Given the description of an element on the screen output the (x, y) to click on. 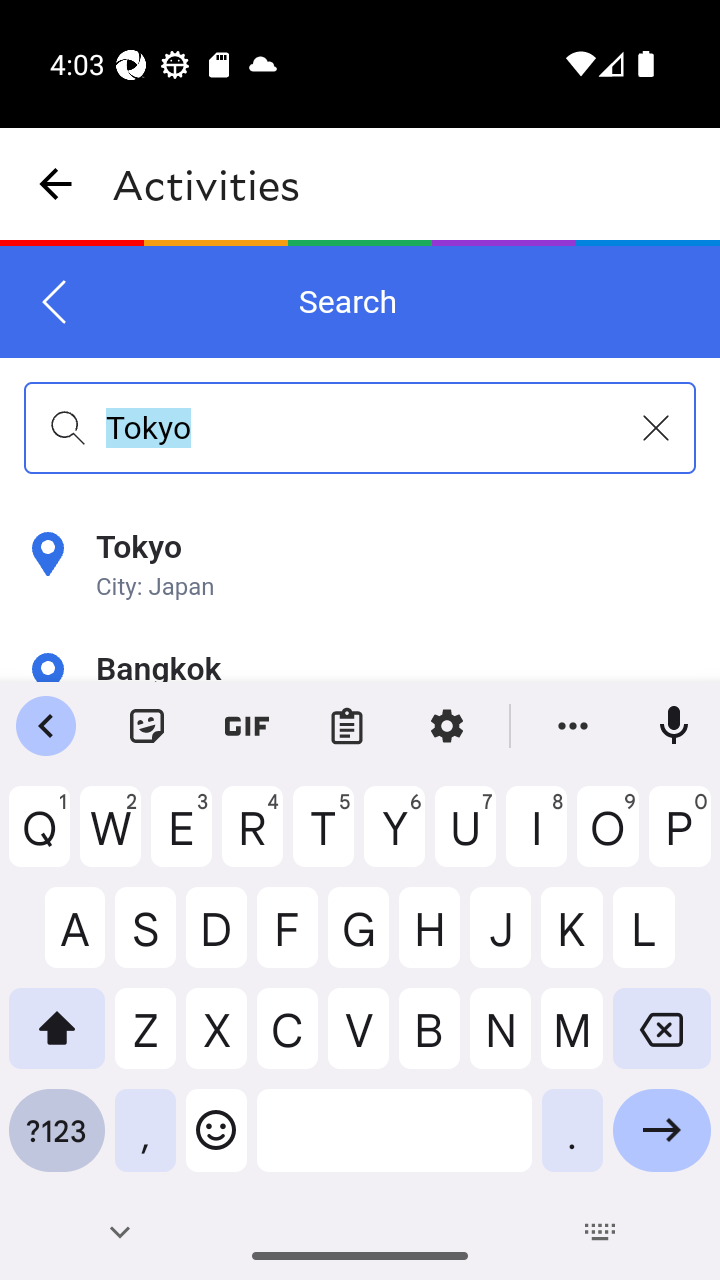
navigation_button (56, 184)
Find your next adventure   Tokyo Search (360, 463)
Back (55, 301)
Tokyo (359, 427)
Clear (655, 428)
Tokyo City: Japan (360, 566)
Tokyo (359, 590)
